Given the description of an element on the screen output the (x, y) to click on. 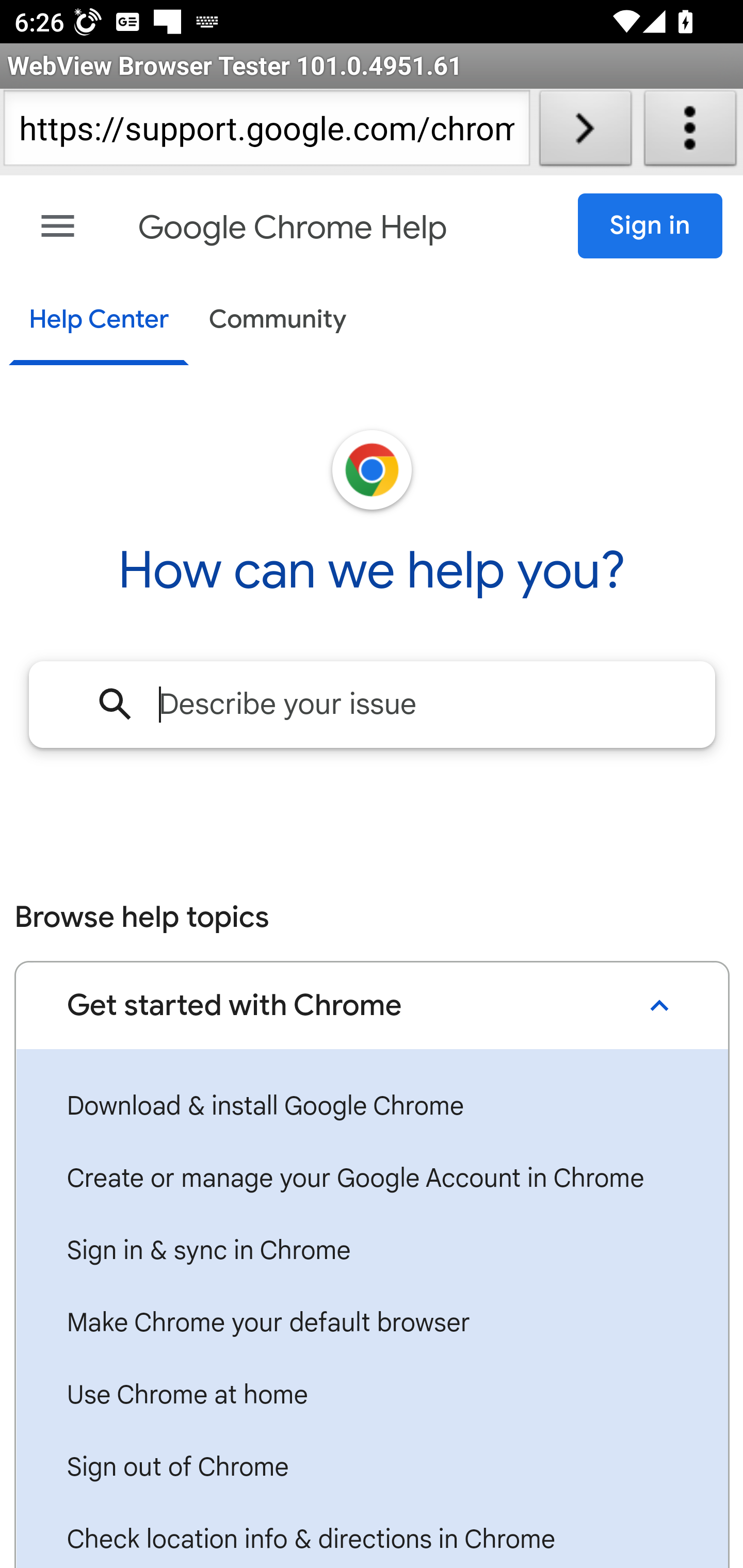
Load URL (585, 132)
About WebView (690, 132)
Main menu (58, 226)
Google Chrome Help (292, 227)
Sign in (650, 226)
Help Center (98, 320)
Community (277, 320)
Search (116, 703)
Download & install Google Chrome (371, 1106)
Create or manage your Google Account in Chrome (371, 1179)
Sign in & sync in Chrome (371, 1251)
Make Chrome your default browser (371, 1323)
Use Chrome at home (371, 1396)
Sign out of Chrome (371, 1468)
Check location info & directions in Chrome (371, 1535)
